Given the description of an element on the screen output the (x, y) to click on. 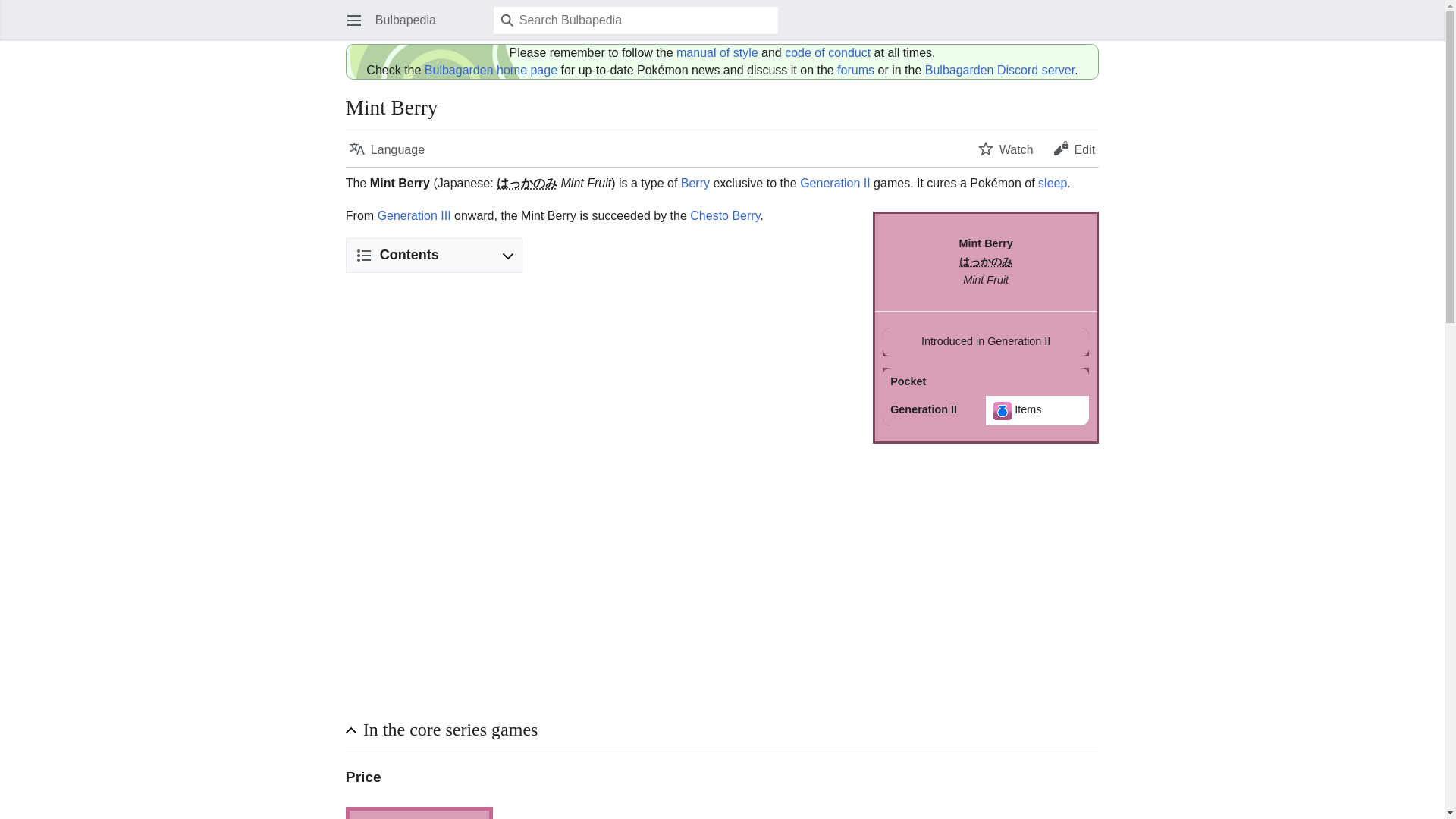
Chesto Berry (725, 215)
Watch (1005, 148)
forums (856, 69)
Open main menu (353, 20)
sleep (1052, 182)
Berry (695, 182)
Bulbapedia:Code of conduct (827, 51)
Generation III (414, 215)
Bulbagarden Discord server (999, 69)
Berry (695, 182)
